Given the description of an element on the screen output the (x, y) to click on. 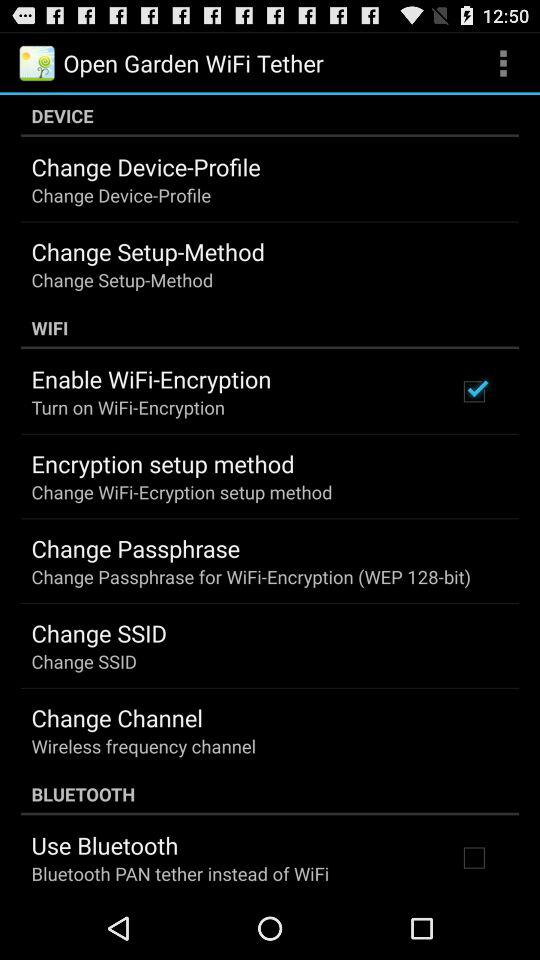
choose the app to the right of open garden wifi icon (503, 62)
